Given the description of an element on the screen output the (x, y) to click on. 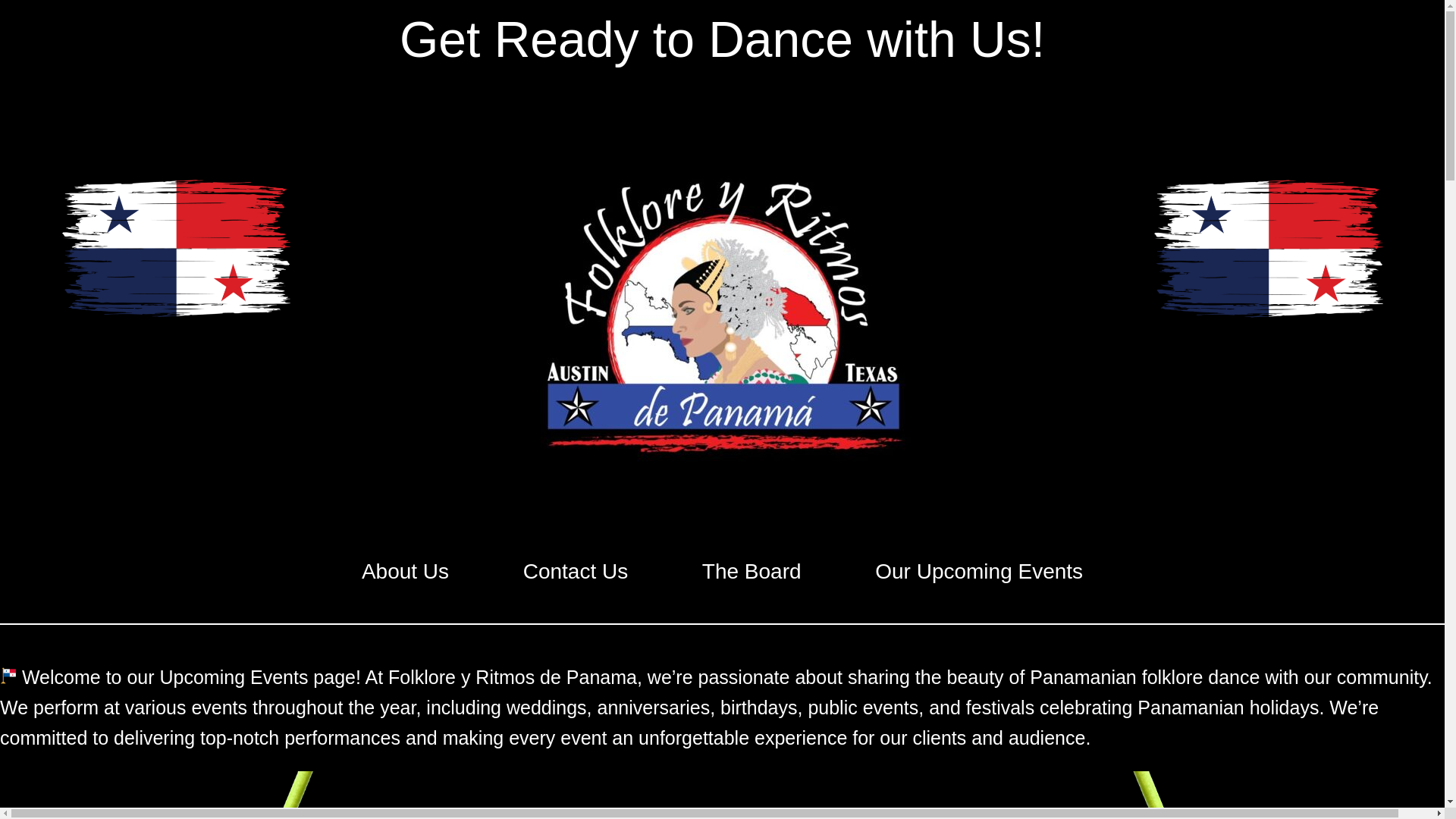
Our Upcoming Events (979, 572)
The Board (751, 572)
About Us (405, 572)
Contact Us (575, 572)
